Given the description of an element on the screen output the (x, y) to click on. 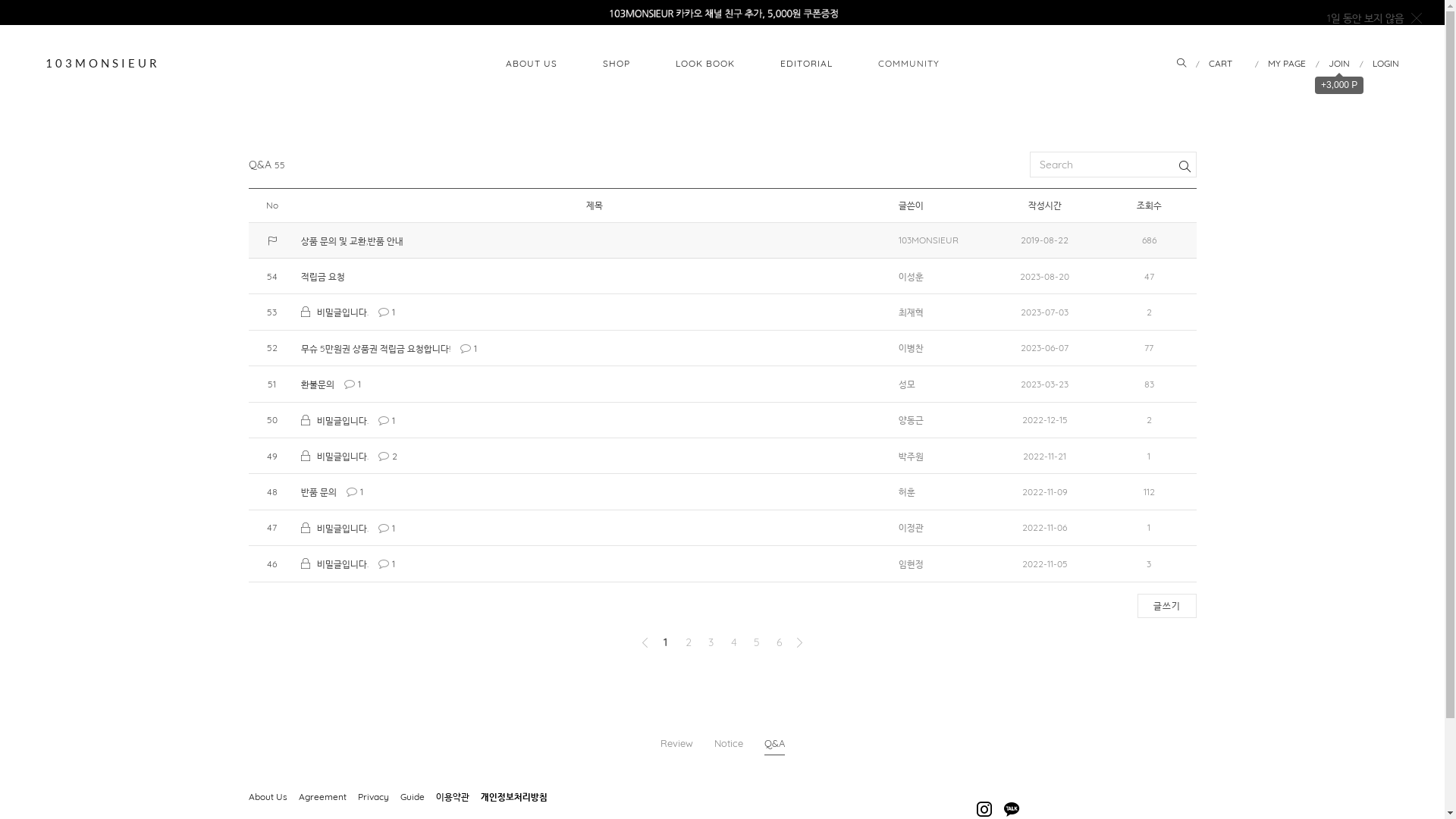
Next Element type: text (799, 642)
Q&A Element type: text (774, 745)
Previous Element type: text (644, 642)
About Us Element type: text (273, 796)
CART Element type: text (1226, 63)
MY PAGE Element type: text (1286, 63)
ABOUT US Element type: text (530, 62)
Notice Element type: text (728, 745)
2 Element type: text (688, 642)
Guide Element type: text (418, 796)
COMMUNITY Element type: text (908, 62)
search Element type: hover (1112, 164)
6 Element type: text (779, 642)
Privacy Element type: text (378, 796)
3 Element type: text (711, 642)
Review Element type: text (675, 745)
5 Element type: text (756, 642)
site search Element type: text (1181, 63)
LOOK BOOK Element type: text (704, 62)
JOIN Element type: text (1338, 63)
103MONSIEUR Element type: text (102, 62)
EDITORIAL Element type: text (805, 62)
1 Element type: text (665, 642)
Agreement Element type: text (327, 796)
LOGIN Element type: text (1385, 63)
4 Element type: text (733, 642)
SHOP Element type: text (615, 62)
